Given the description of an element on the screen output the (x, y) to click on. 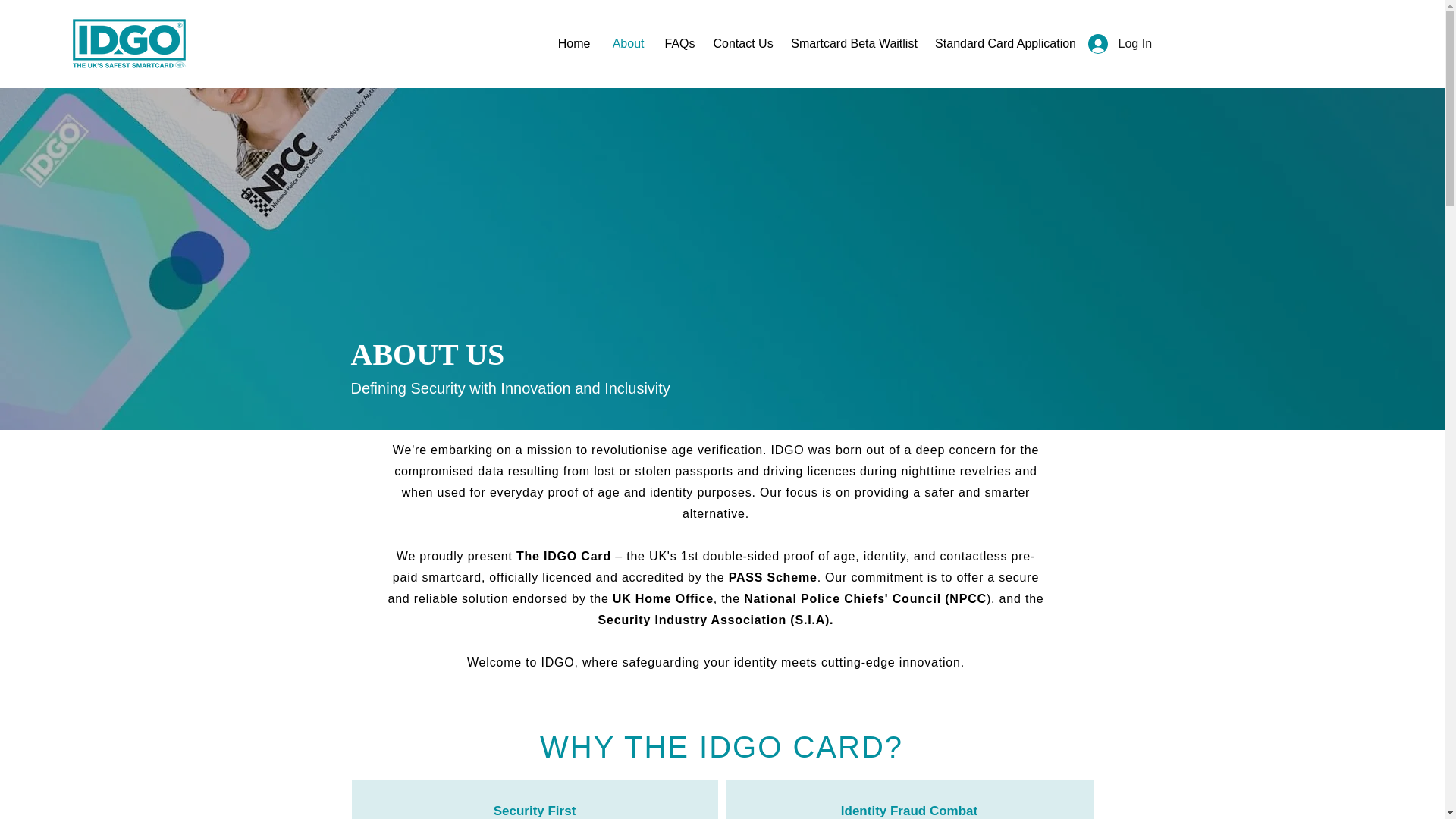
Contact Us (743, 43)
Home (574, 43)
Smartcard Beta Waitlist (854, 43)
Standard Card Application (1005, 43)
About (628, 43)
Log In (1116, 43)
